Given the description of an element on the screen output the (x, y) to click on. 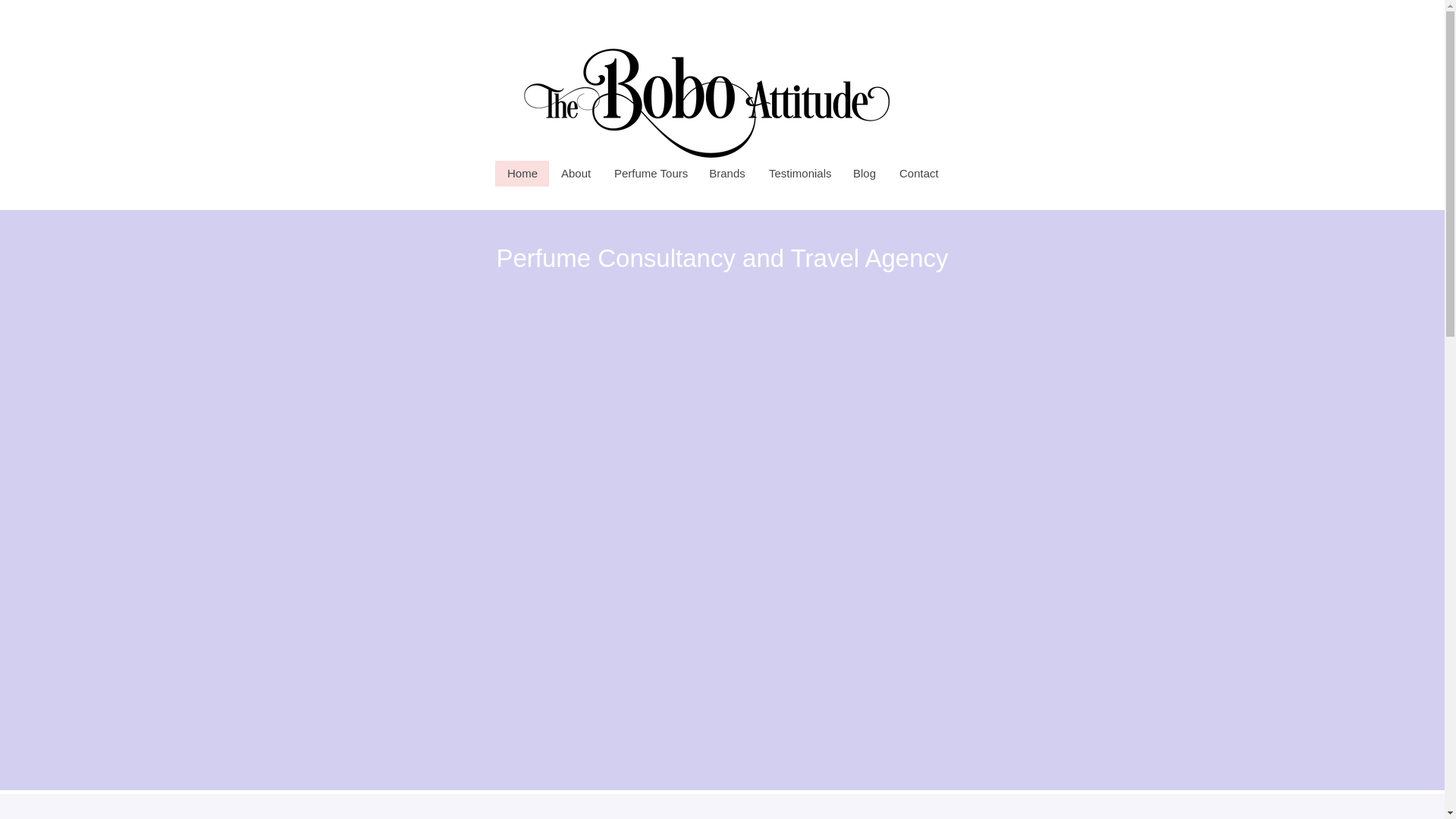
Perfume Tours (649, 173)
Home (521, 173)
About (575, 173)
Blog (863, 173)
Brands (727, 173)
Logo Full.png (706, 79)
Contact (917, 173)
Testimonials (799, 173)
